Given the description of an element on the screen output the (x, y) to click on. 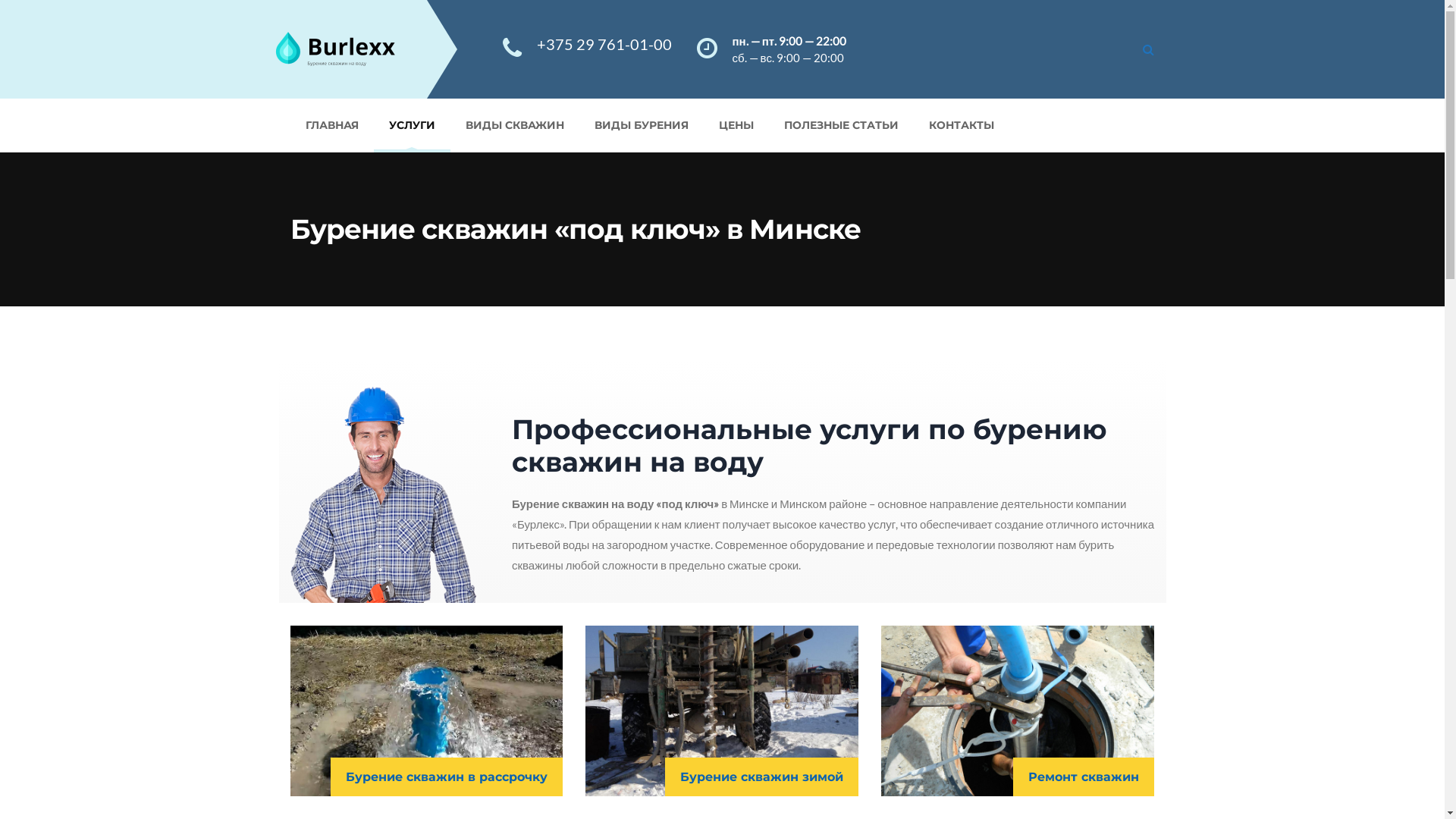
+375 29 761-01-00 Element type: text (603, 43)
